Given the description of an element on the screen output the (x, y) to click on. 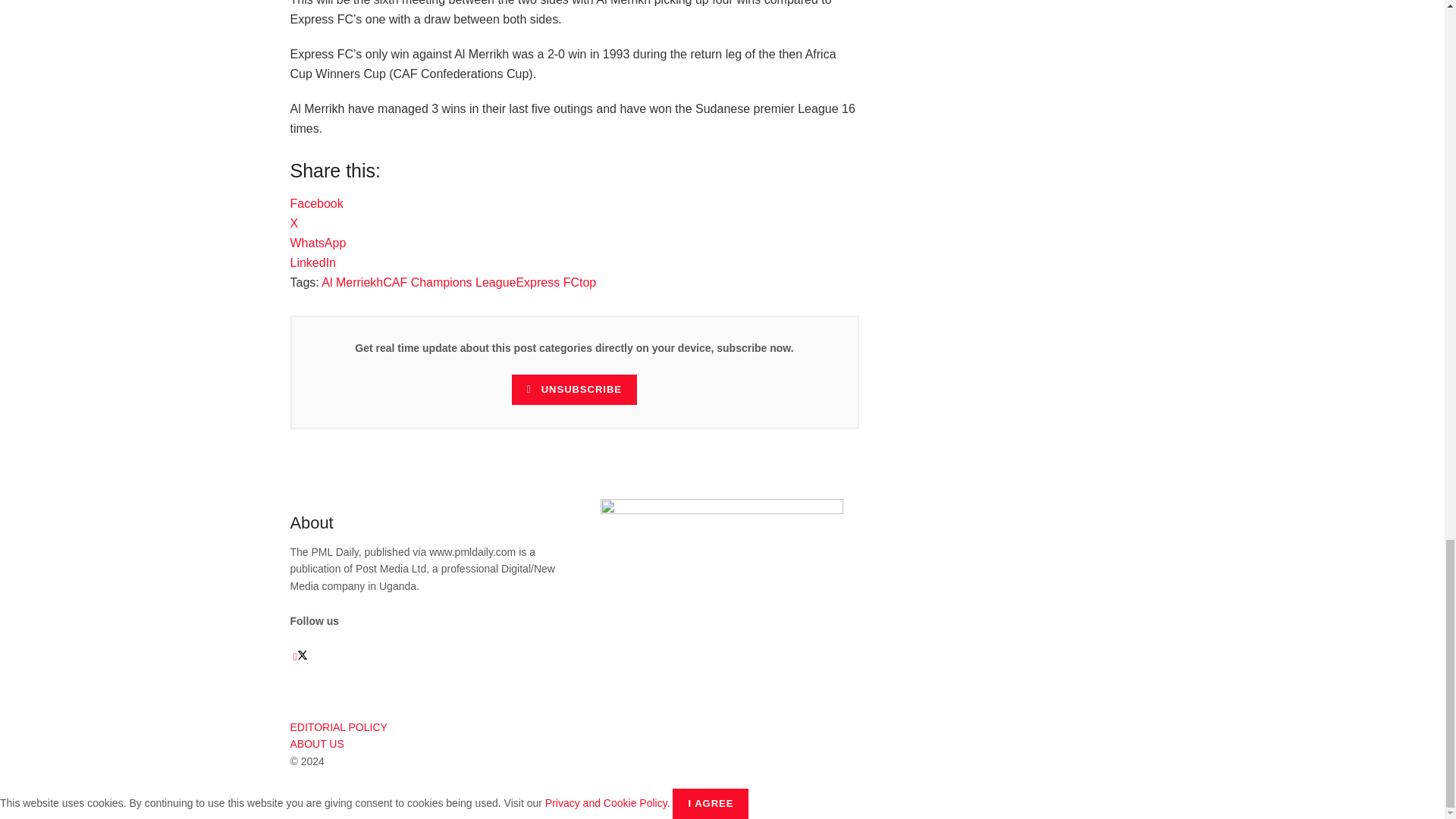
Click to share on Facebook (315, 203)
Click to share on WhatsApp (317, 242)
Click to share on LinkedIn (312, 262)
